Given the description of an element on the screen output the (x, y) to click on. 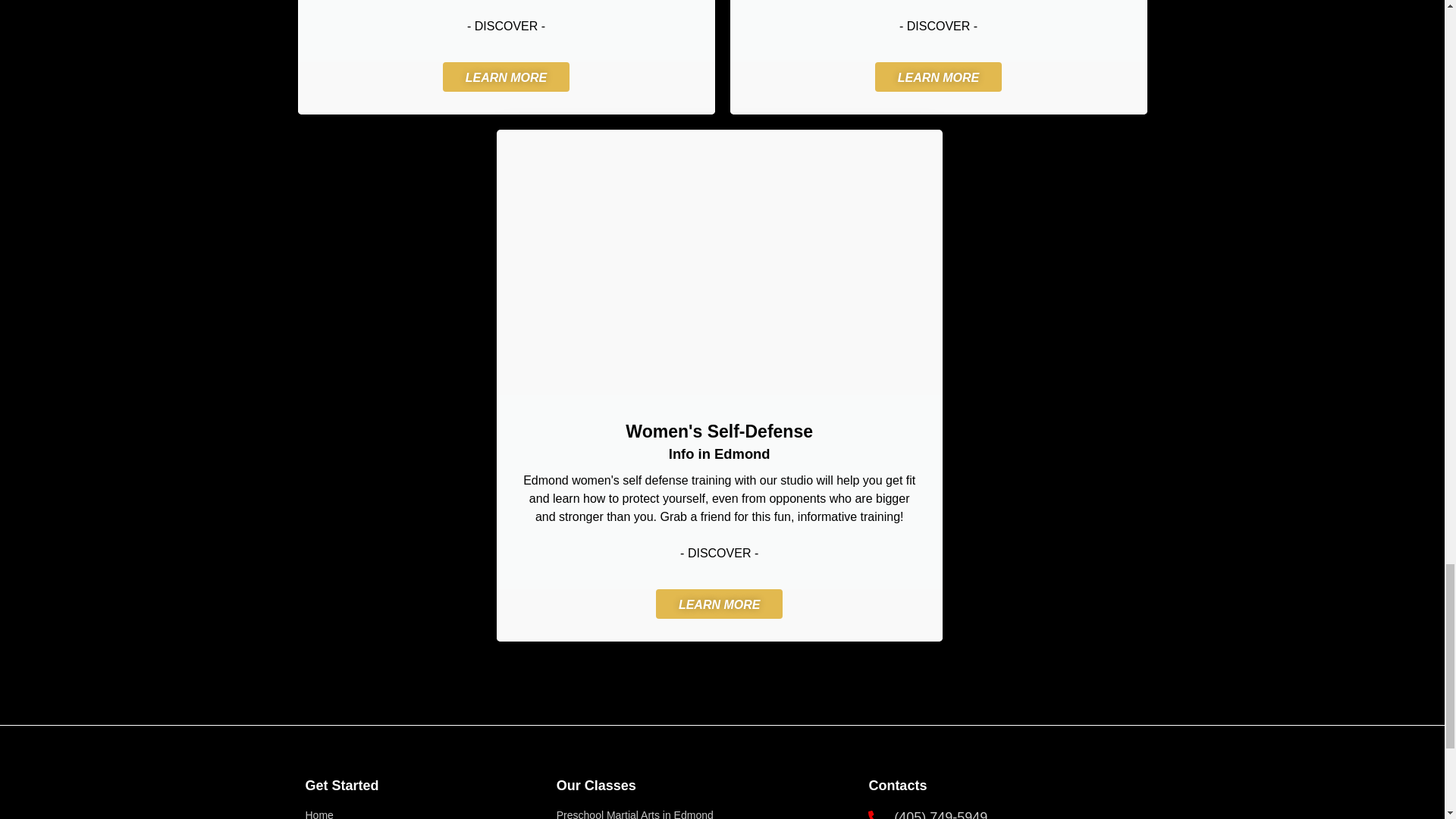
LEARN MORE (506, 77)
LEARN MORE (939, 77)
LEARN MORE (719, 603)
Preschool Martial Arts in Edmond (704, 813)
Phone (1001, 813)
Home (422, 813)
